Given the description of an element on the screen output the (x, y) to click on. 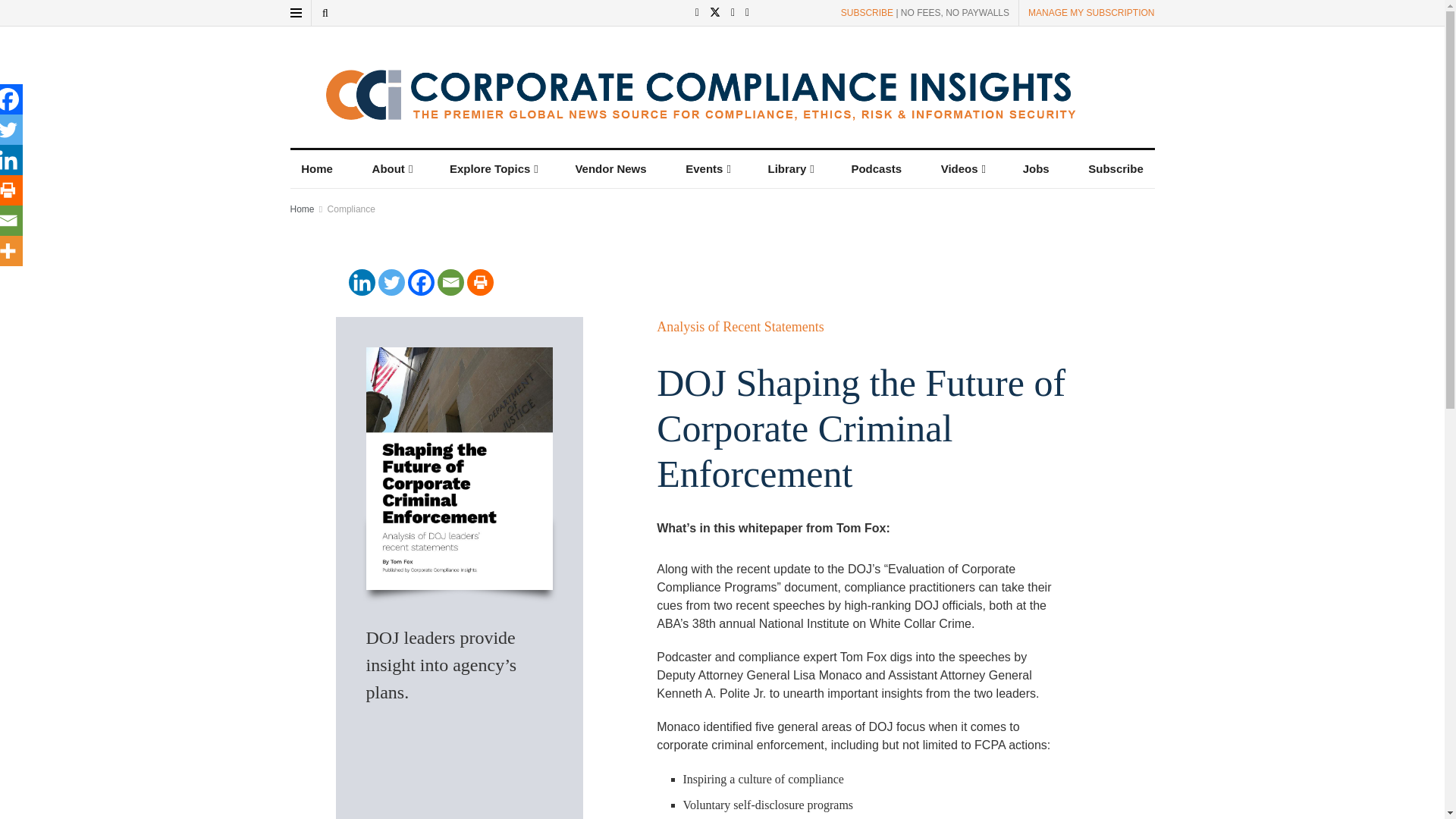
Linkedin (362, 282)
Events (706, 168)
About (391, 168)
Print (480, 282)
Twitter (390, 282)
SUBSCRIBE (867, 12)
Home (316, 168)
Explore Topics (492, 168)
Vendor News (611, 168)
MANAGE MY SUBSCRIPTION (1090, 12)
